Given the description of an element on the screen output the (x, y) to click on. 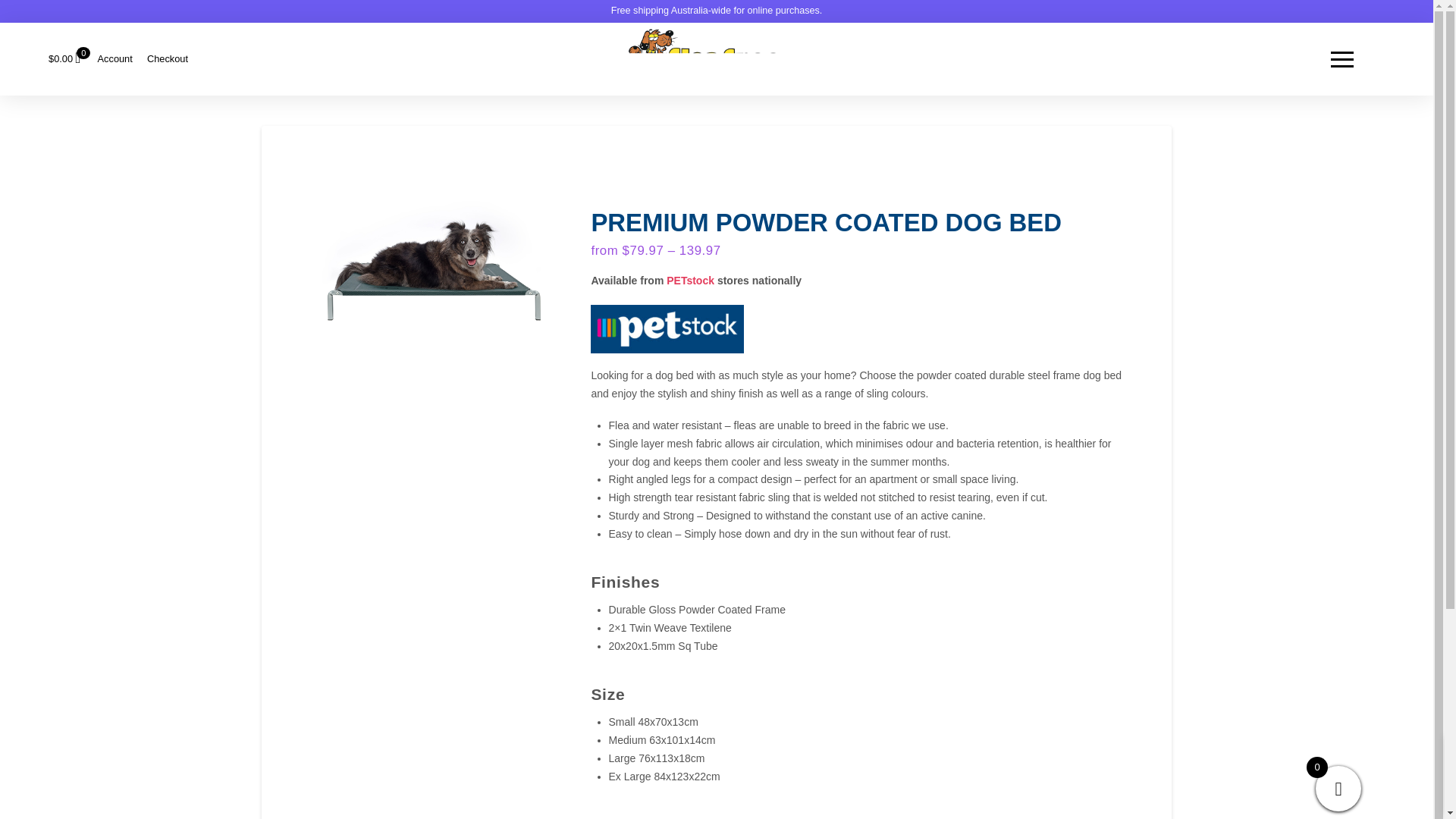
Checkout (167, 58)
fleafree-premium-dog-bed (432, 268)
Account (114, 58)
PETstock (690, 280)
